Given the description of an element on the screen output the (x, y) to click on. 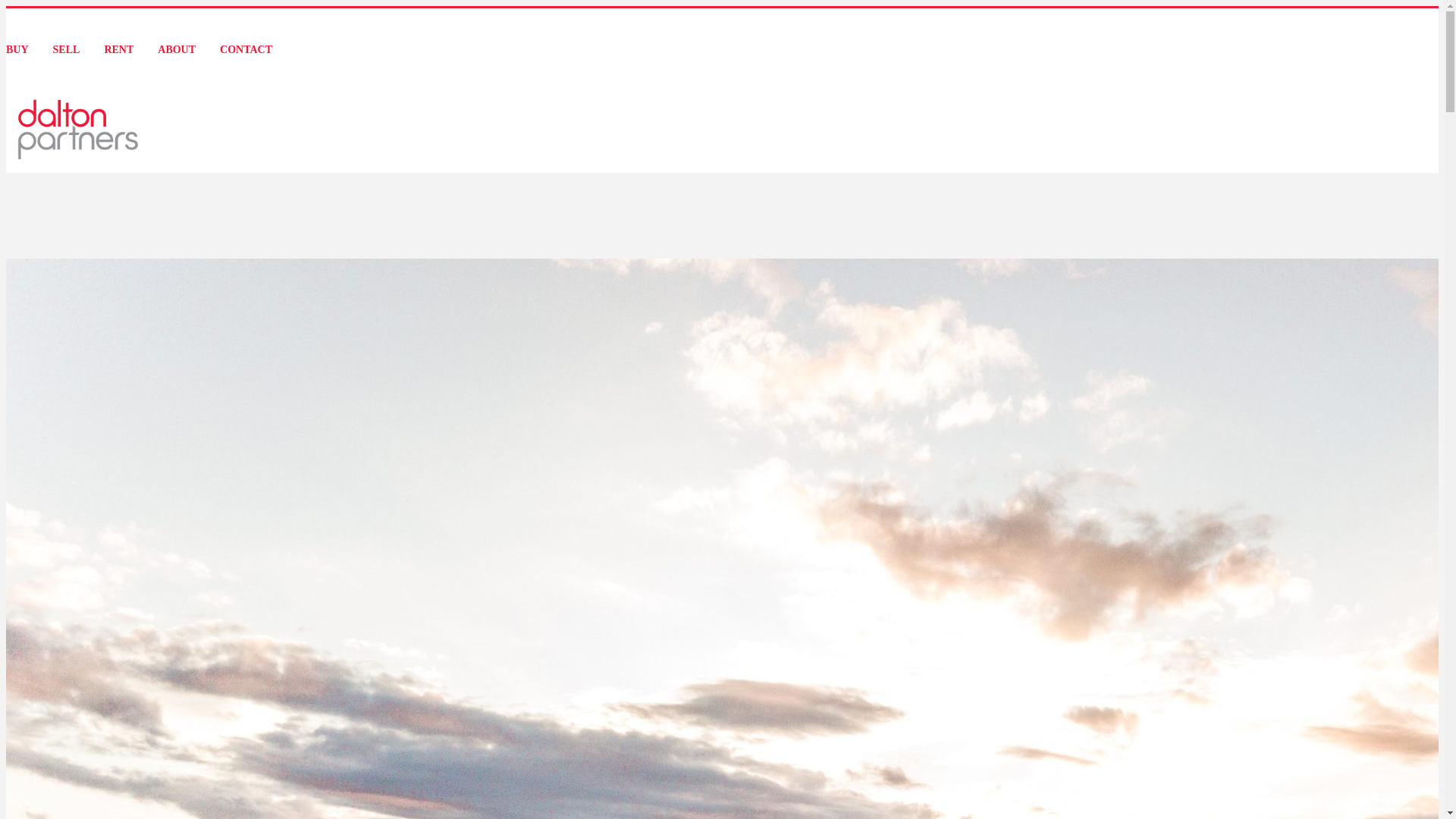
CONTACT Element type: text (245, 49)
RENT Element type: text (118, 49)
BUY Element type: text (17, 49)
SELL Element type: text (66, 49)
ABOUT Element type: text (176, 49)
